Given the description of an element on the screen output the (x, y) to click on. 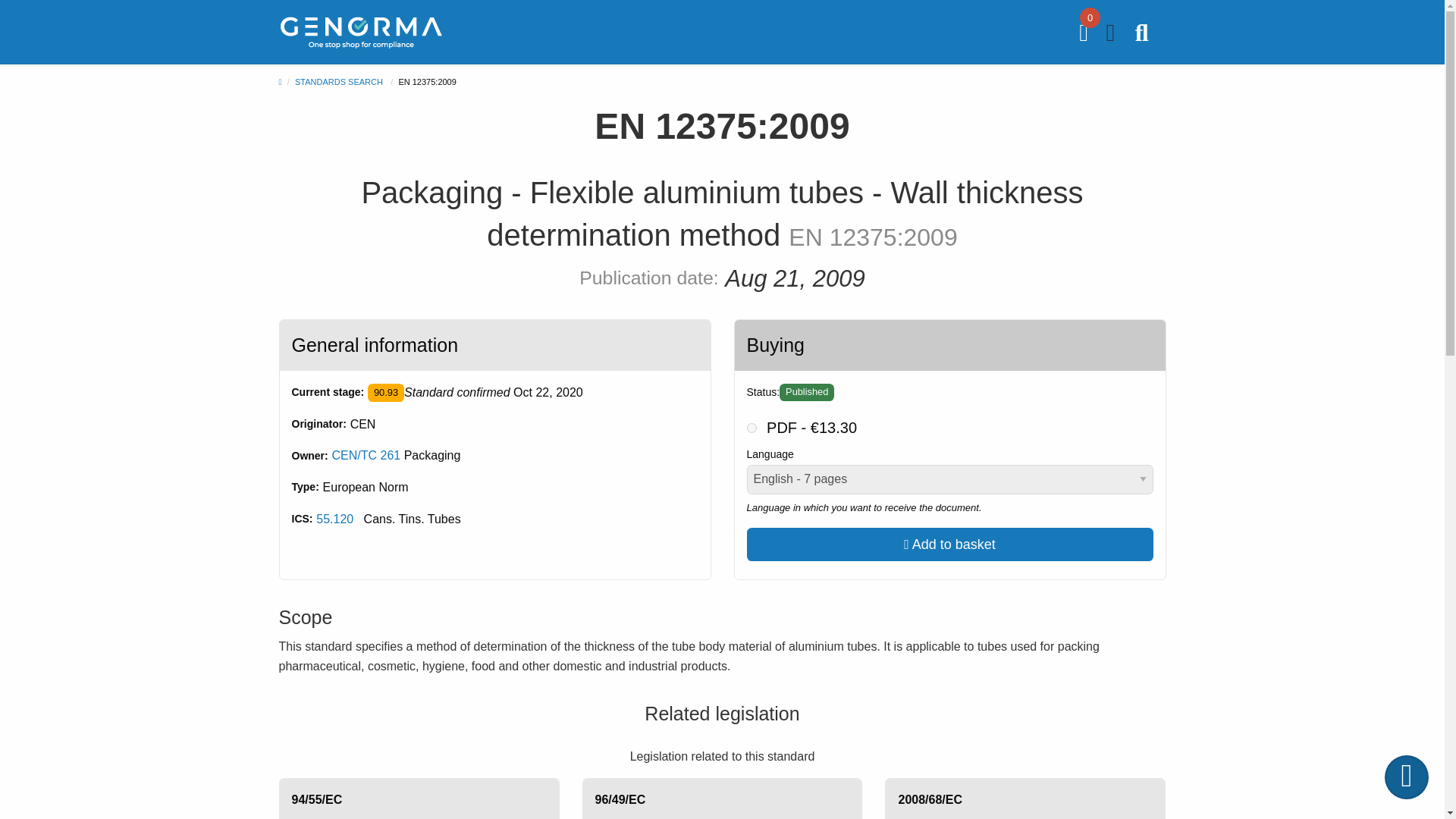
Standard confirmed (386, 392)
My account (1112, 36)
STANDARDS SEARCH (338, 81)
55.120 (334, 518)
Effective date (548, 392)
Add to basket (949, 544)
1267 (750, 428)
Status (806, 392)
